Given the description of an element on the screen output the (x, y) to click on. 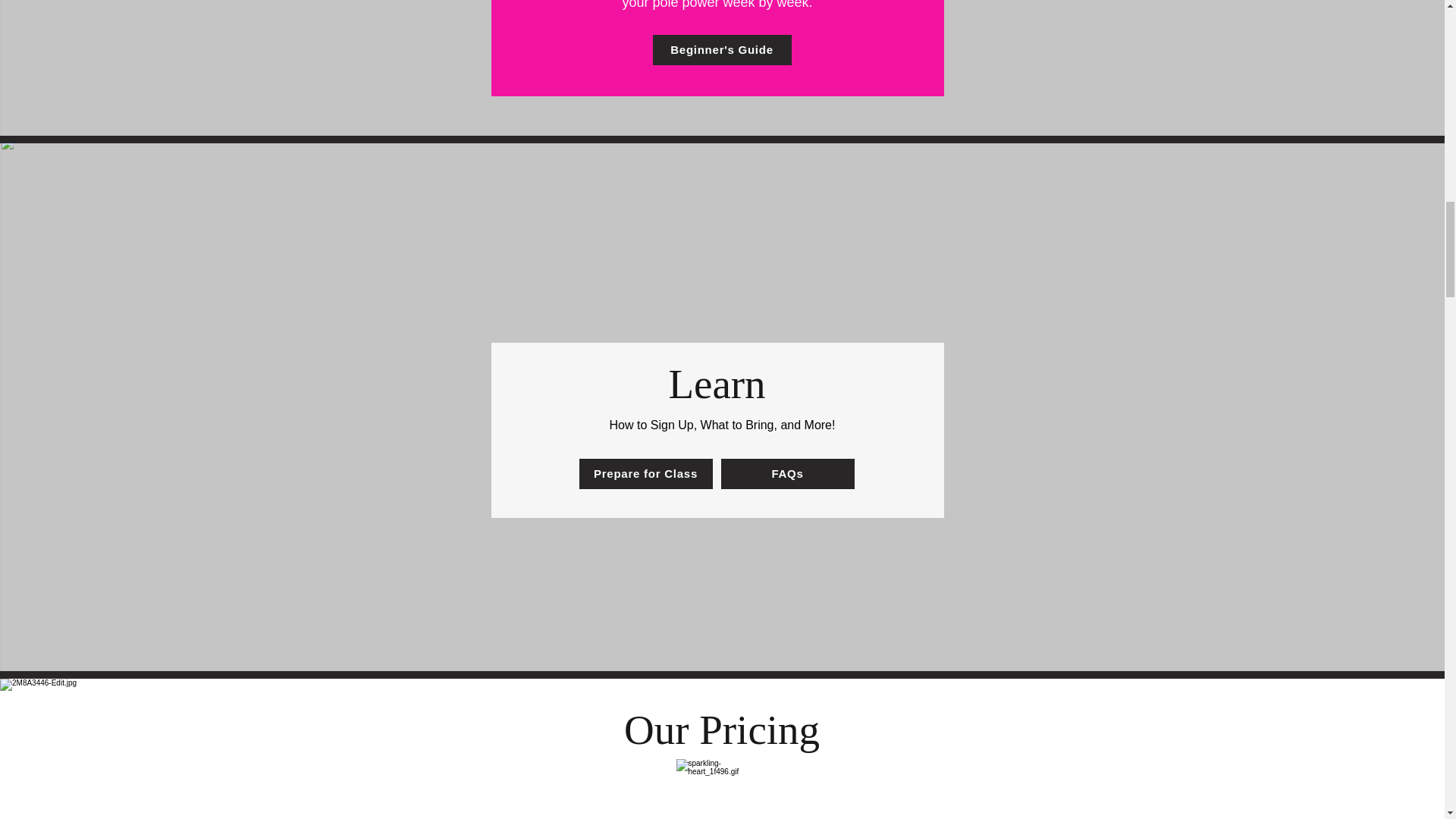
Prepare for Class (646, 472)
Beginner's Guide (721, 50)
FAQs (786, 472)
